Given the description of an element on the screen output the (x, y) to click on. 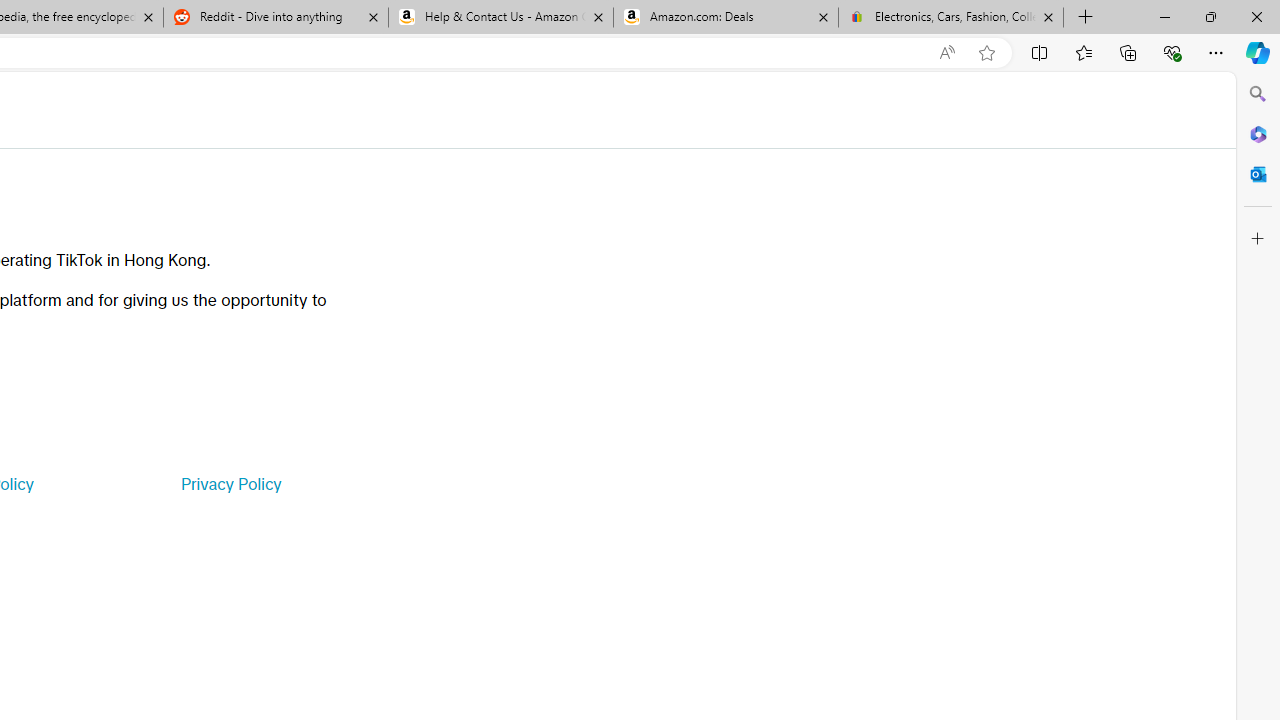
Amazon.com: Deals (726, 17)
